Given the description of an element on the screen output the (x, y) to click on. 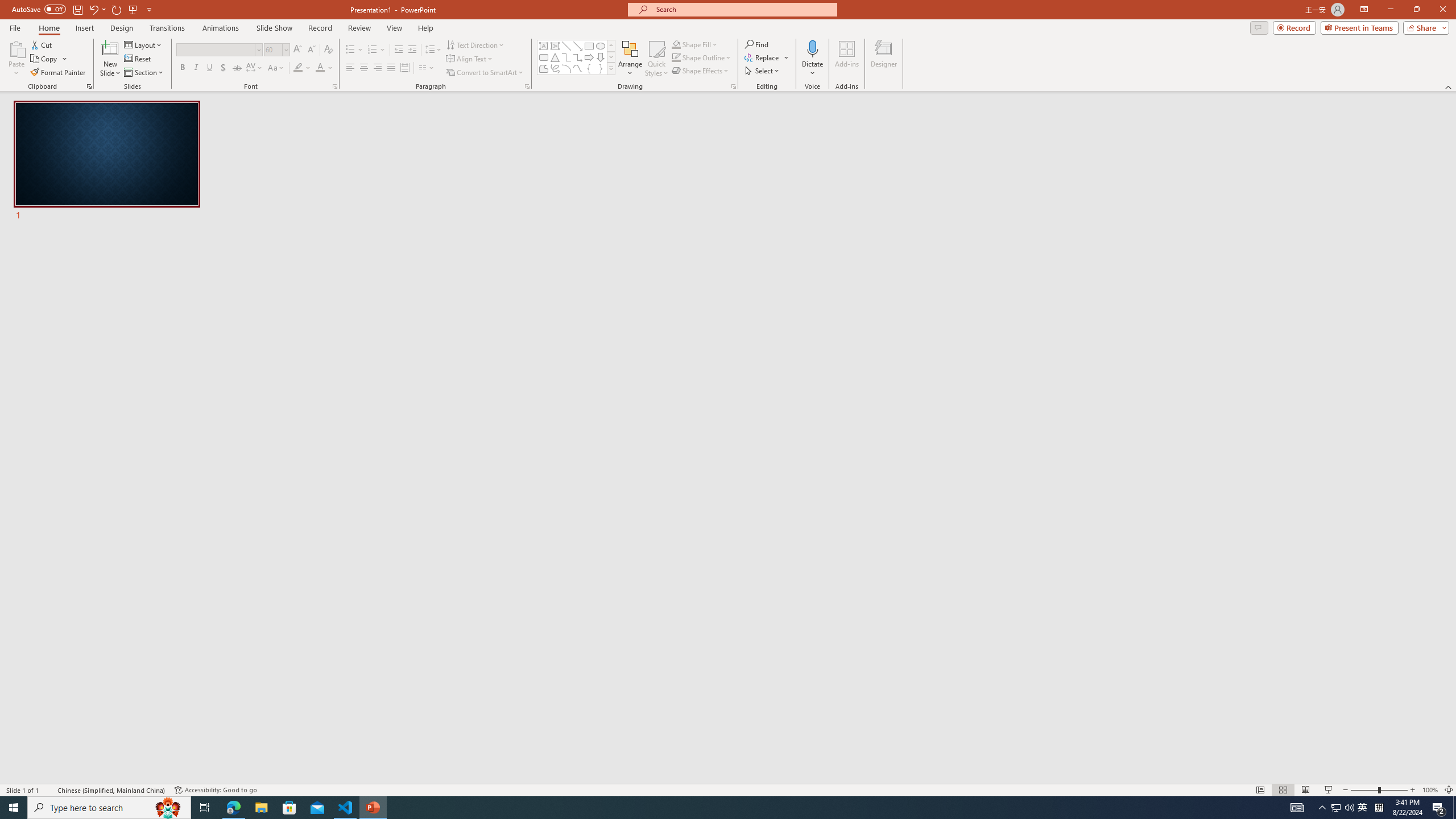
Center (363, 67)
